Given the description of an element on the screen output the (x, y) to click on. 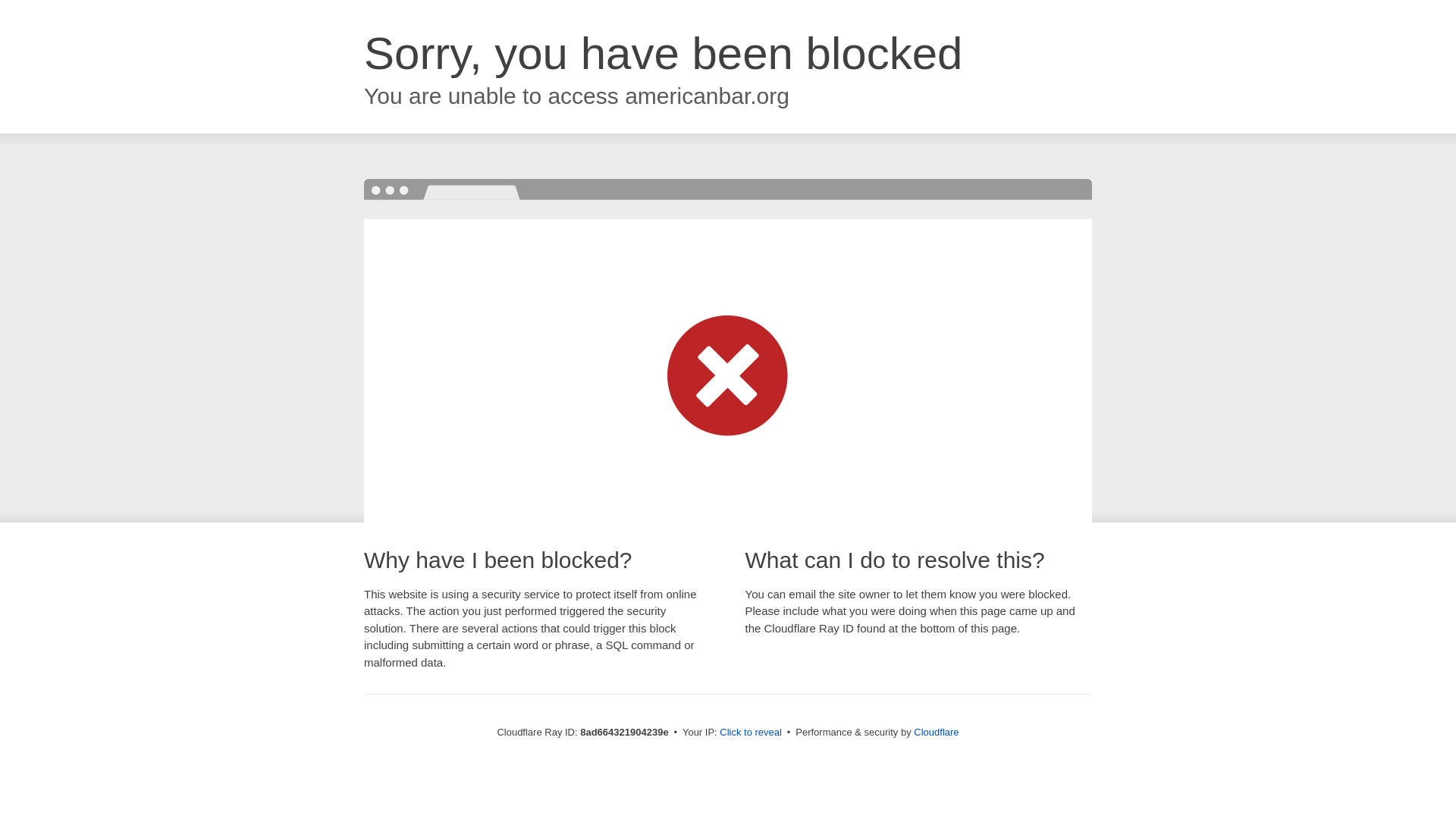
Cloudflare (936, 731)
Click to reveal (750, 732)
